Given the description of an element on the screen output the (x, y) to click on. 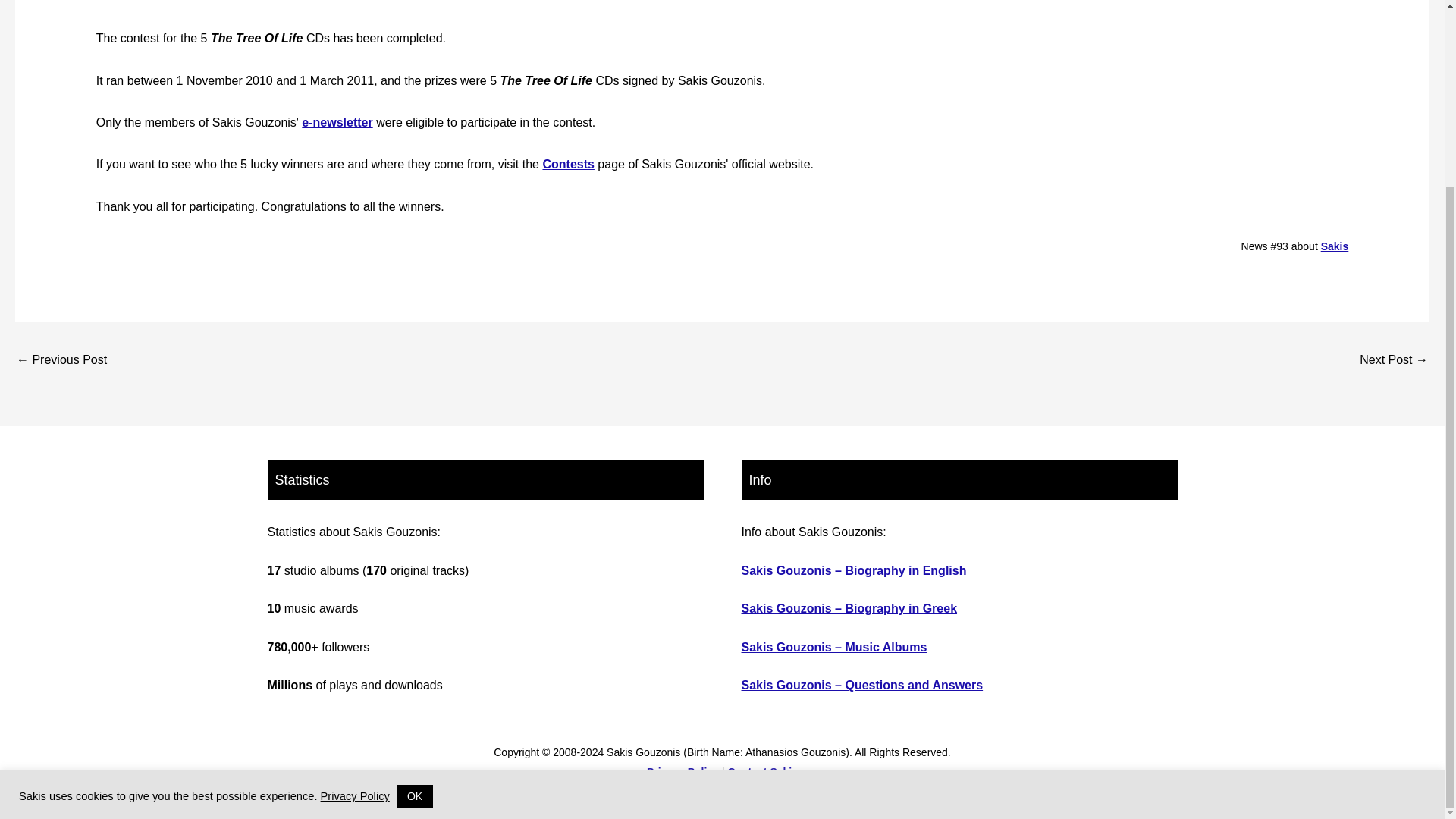
Contests (567, 164)
LiveNea article about Sakis Gouzonis' presence on MySpace (61, 361)
e-newsletter (336, 122)
Privacy Policy (355, 564)
Biography of Sakis Gouzonis (1334, 246)
Sakis (1334, 246)
Sakis Gouzonis gave an interview to Flow (1393, 361)
OK (414, 565)
Contact Sakis (761, 771)
Privacy Policy (682, 771)
